Given the description of an element on the screen output the (x, y) to click on. 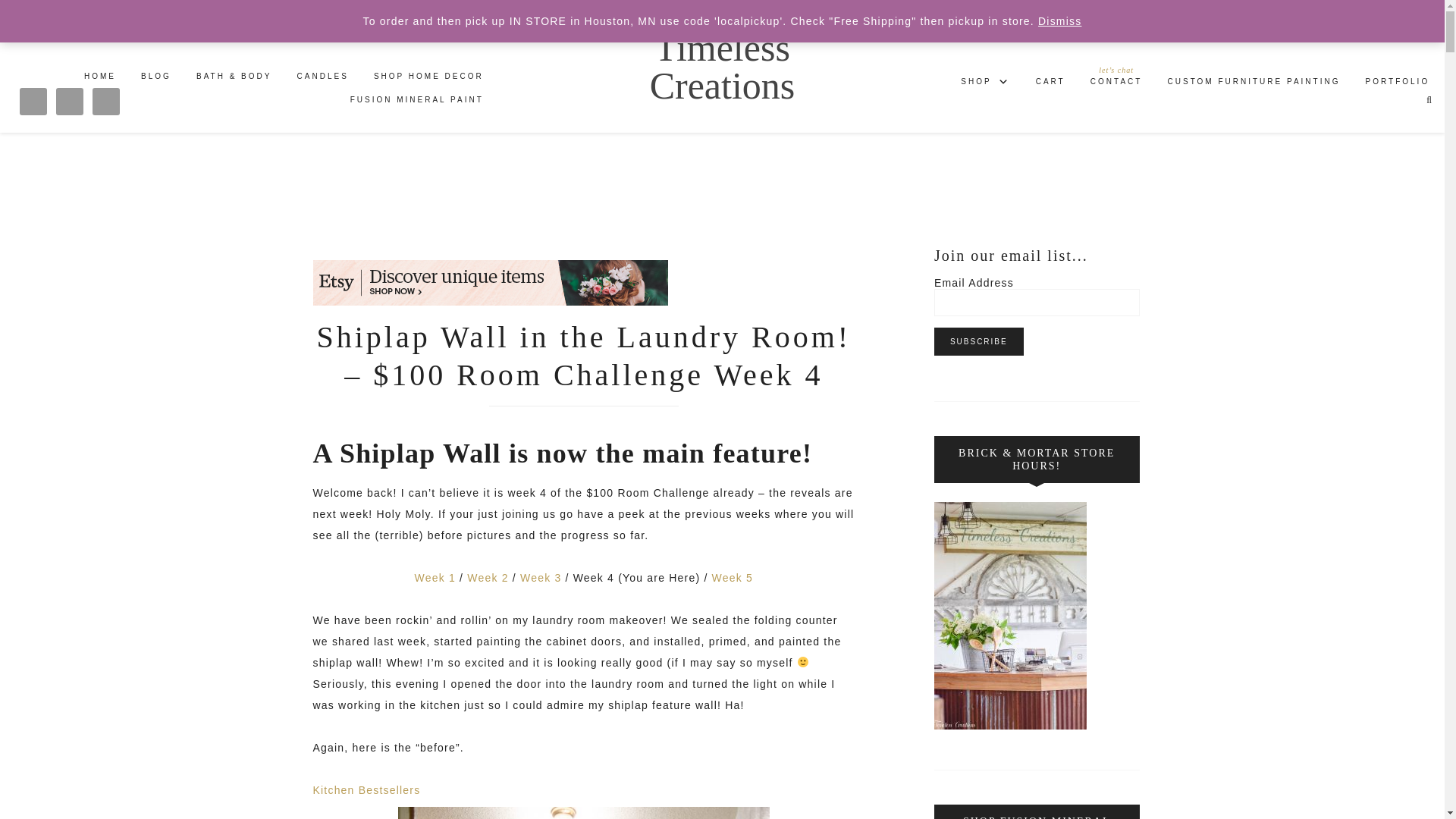
CUSTOM FURNITURE PAINTING (1254, 84)
CANDLES (322, 78)
HOME (100, 78)
SHOP HOME DECOR (428, 78)
Week 3 (539, 577)
Week 2 (487, 577)
Kitchen Bestsellers (366, 789)
Timeless Creations (722, 66)
BLOG (156, 78)
Week 5 (731, 577)
Week 1 (434, 577)
FUSION MINERAL PAINT (417, 102)
PORTFOLIO (1398, 84)
SHOP (985, 84)
Subscribe (978, 341)
